Given the description of an element on the screen output the (x, y) to click on. 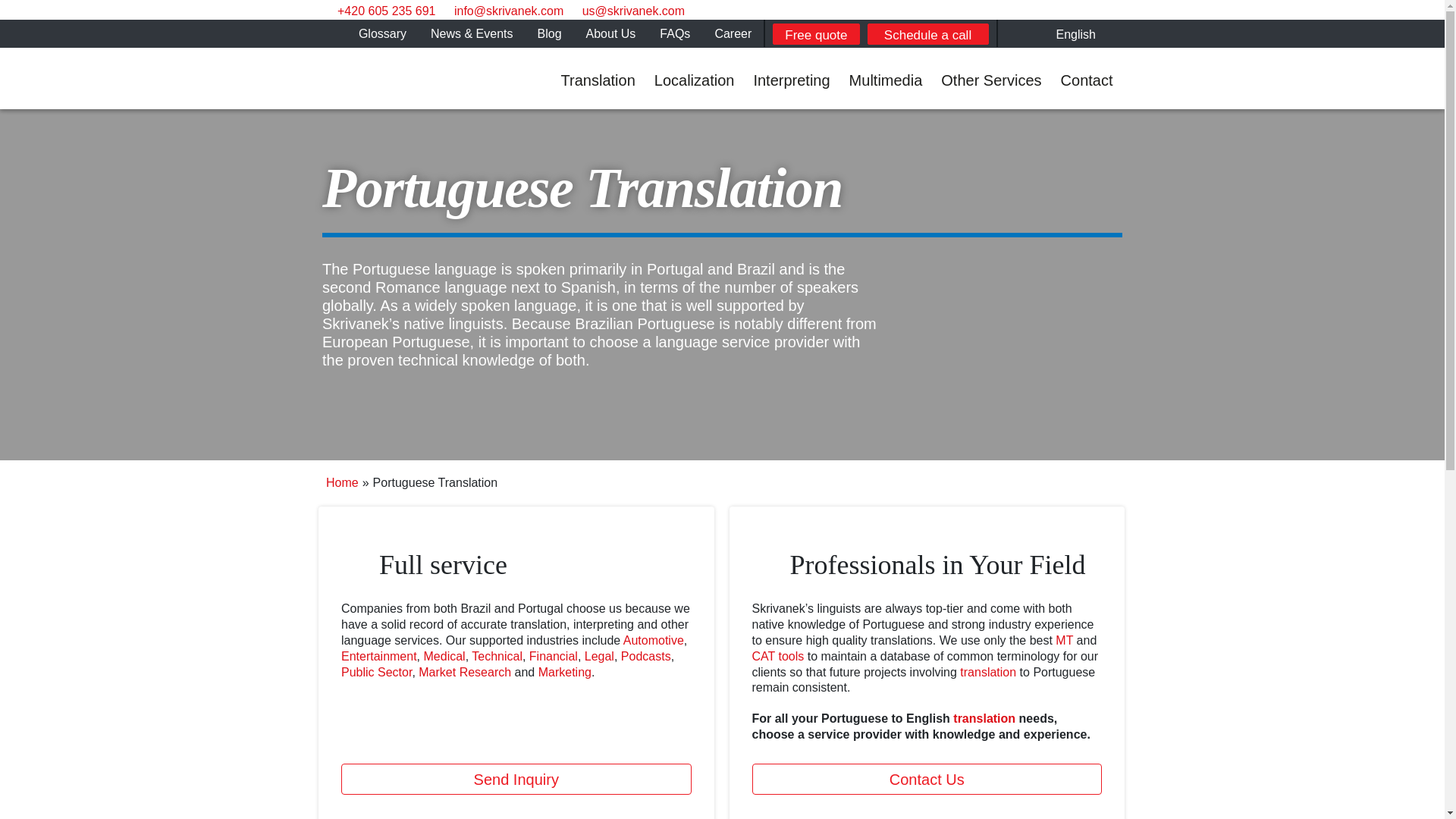
English (1072, 33)
Translation (598, 77)
Localization (694, 77)
